Given the description of an element on the screen output the (x, y) to click on. 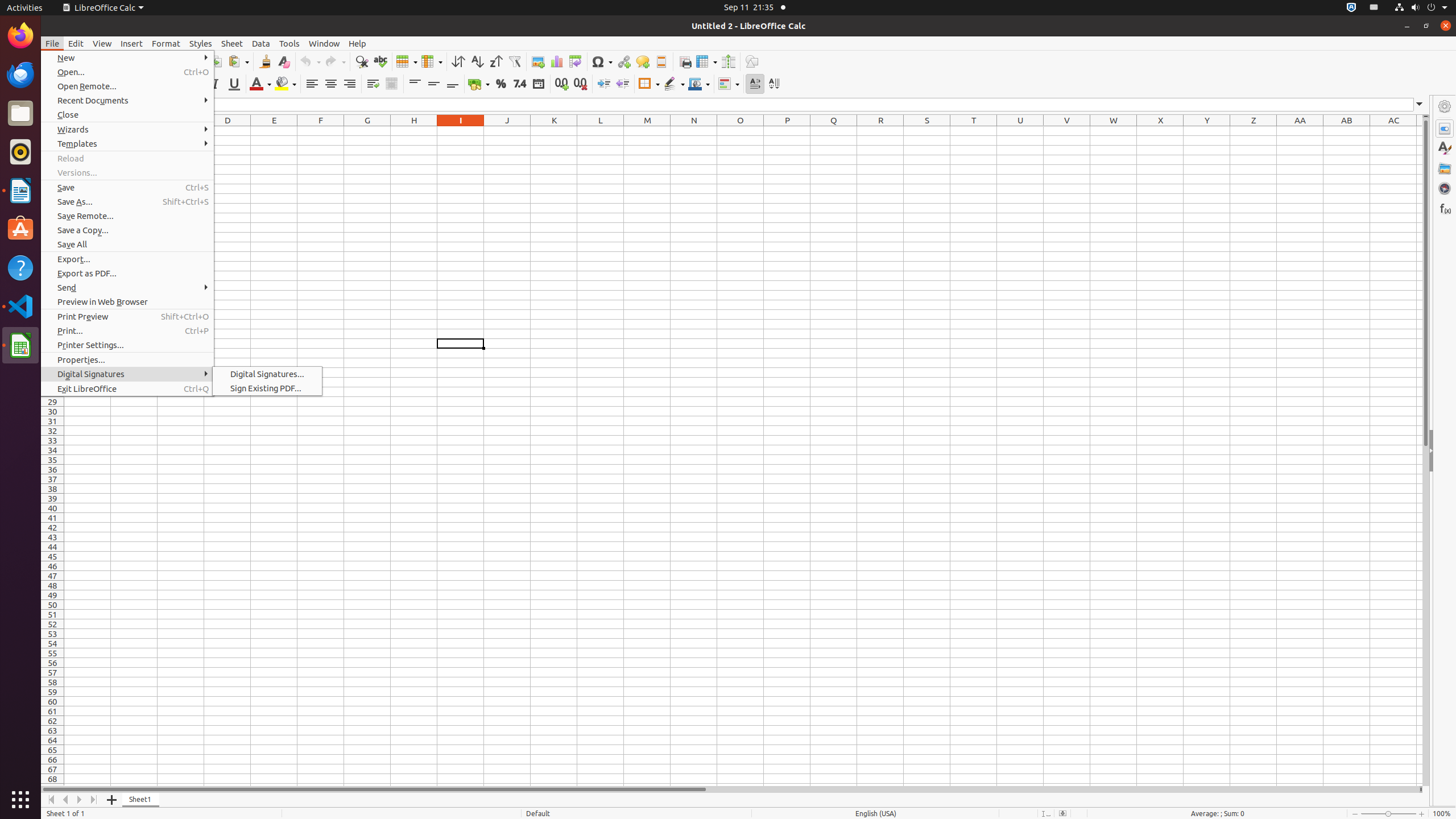
L1 Element type: table-cell (600, 130)
Text direction from top to bottom Element type: toggle-button (773, 83)
T1 Element type: table-cell (973, 130)
Align Center Element type: push-button (330, 83)
